Given the description of an element on the screen output the (x, y) to click on. 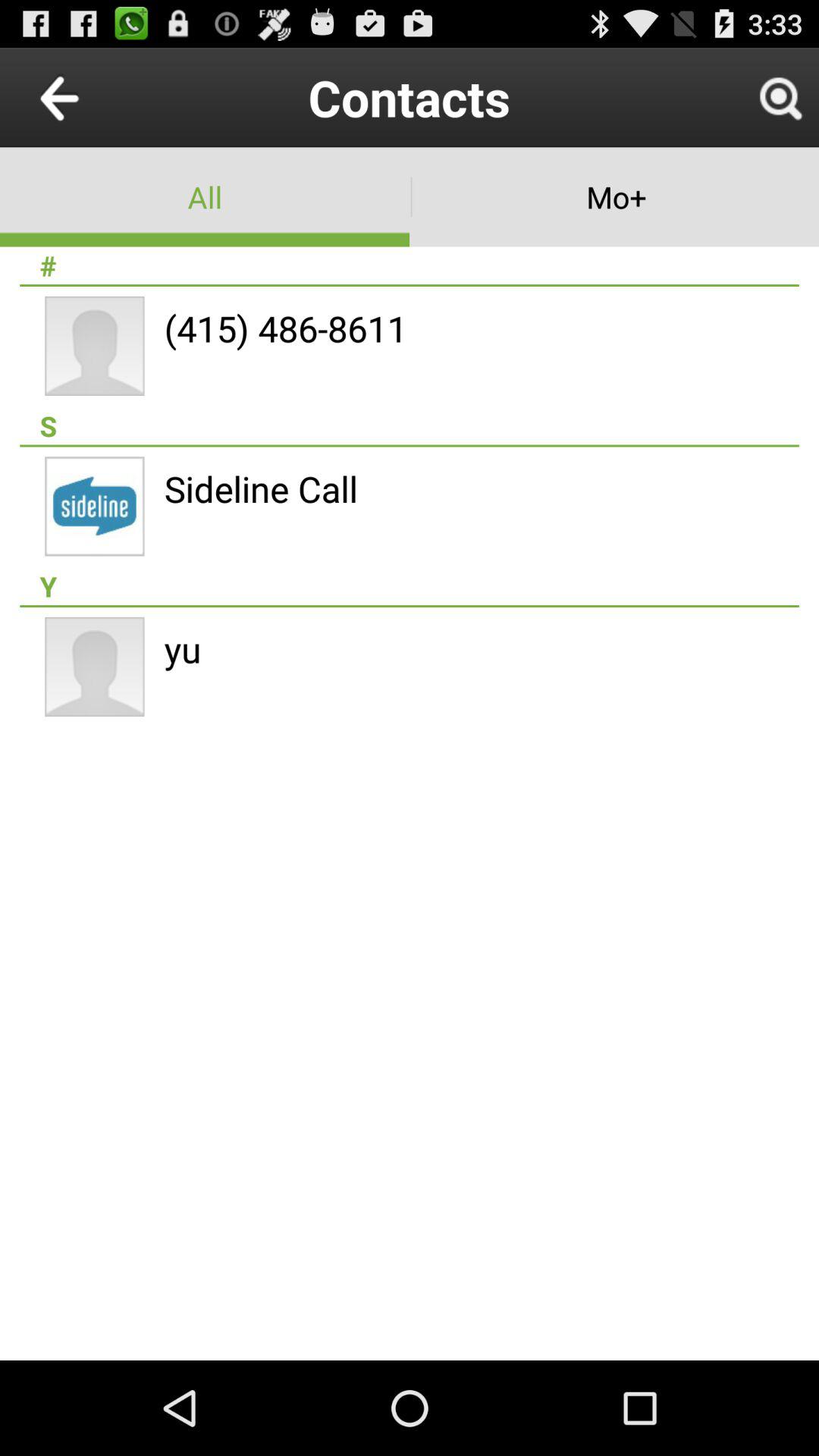
select the # item (409, 265)
